Given the description of an element on the screen output the (x, y) to click on. 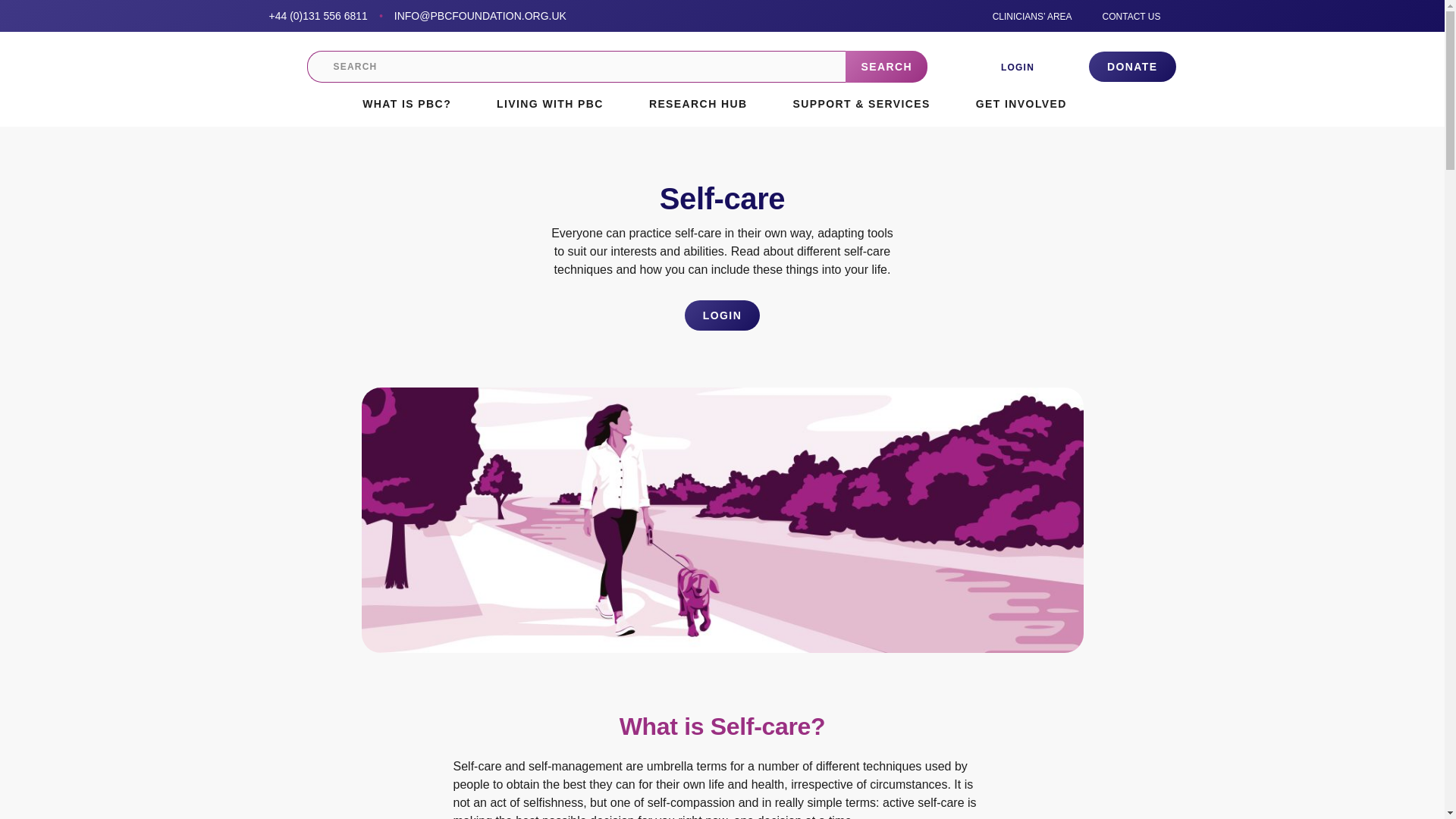
LOGIN (1017, 67)
WHAT IS PBC? (414, 104)
DONATE (1131, 66)
SEARCH (886, 66)
CONTACT US (1131, 15)
GET INVOLVED (1028, 104)
RESEARCH HUB (705, 104)
LIVING WITH PBC (557, 104)
